Given the description of an element on the screen output the (x, y) to click on. 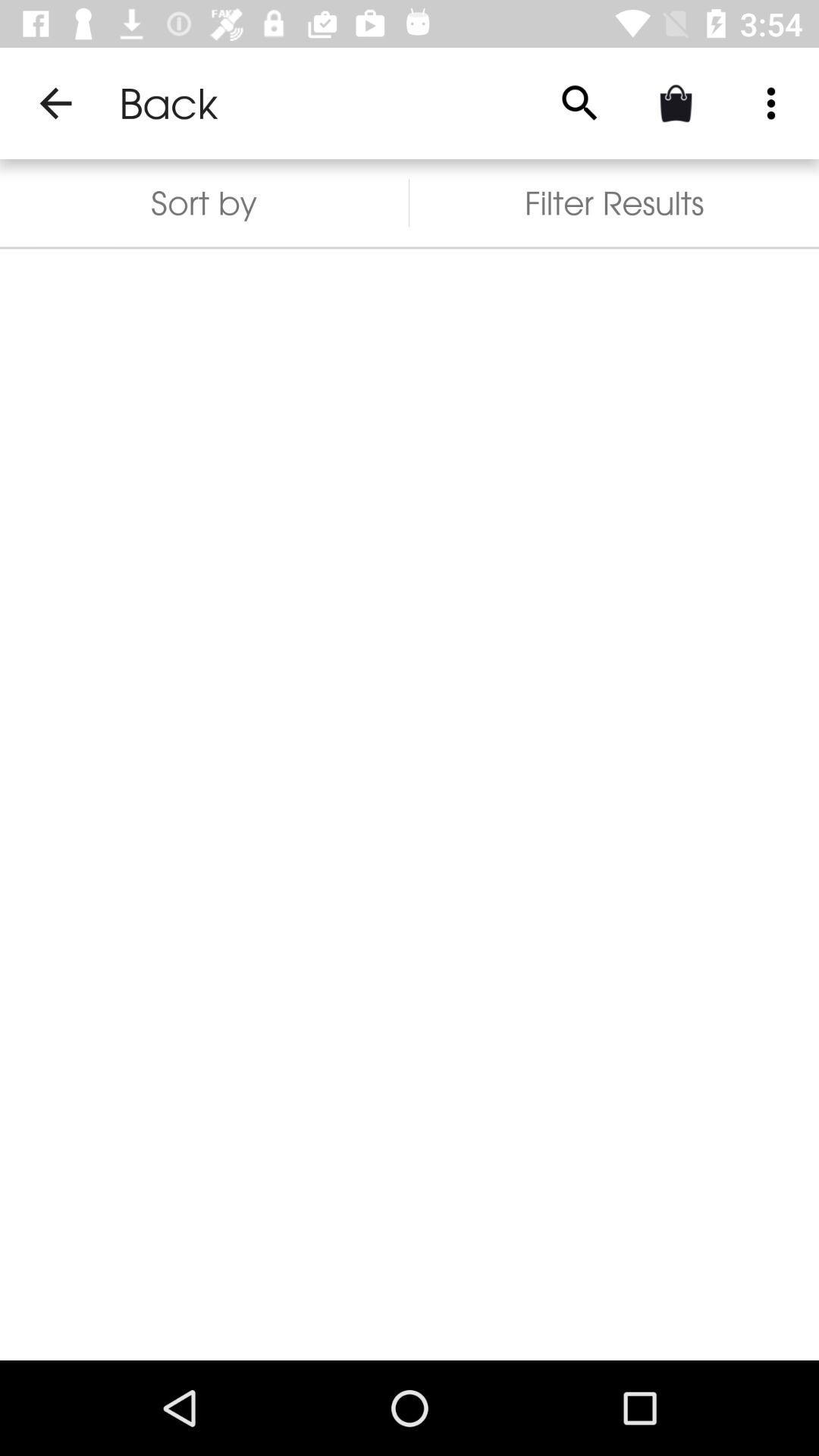
swipe to sort by (204, 202)
